Given the description of an element on the screen output the (x, y) to click on. 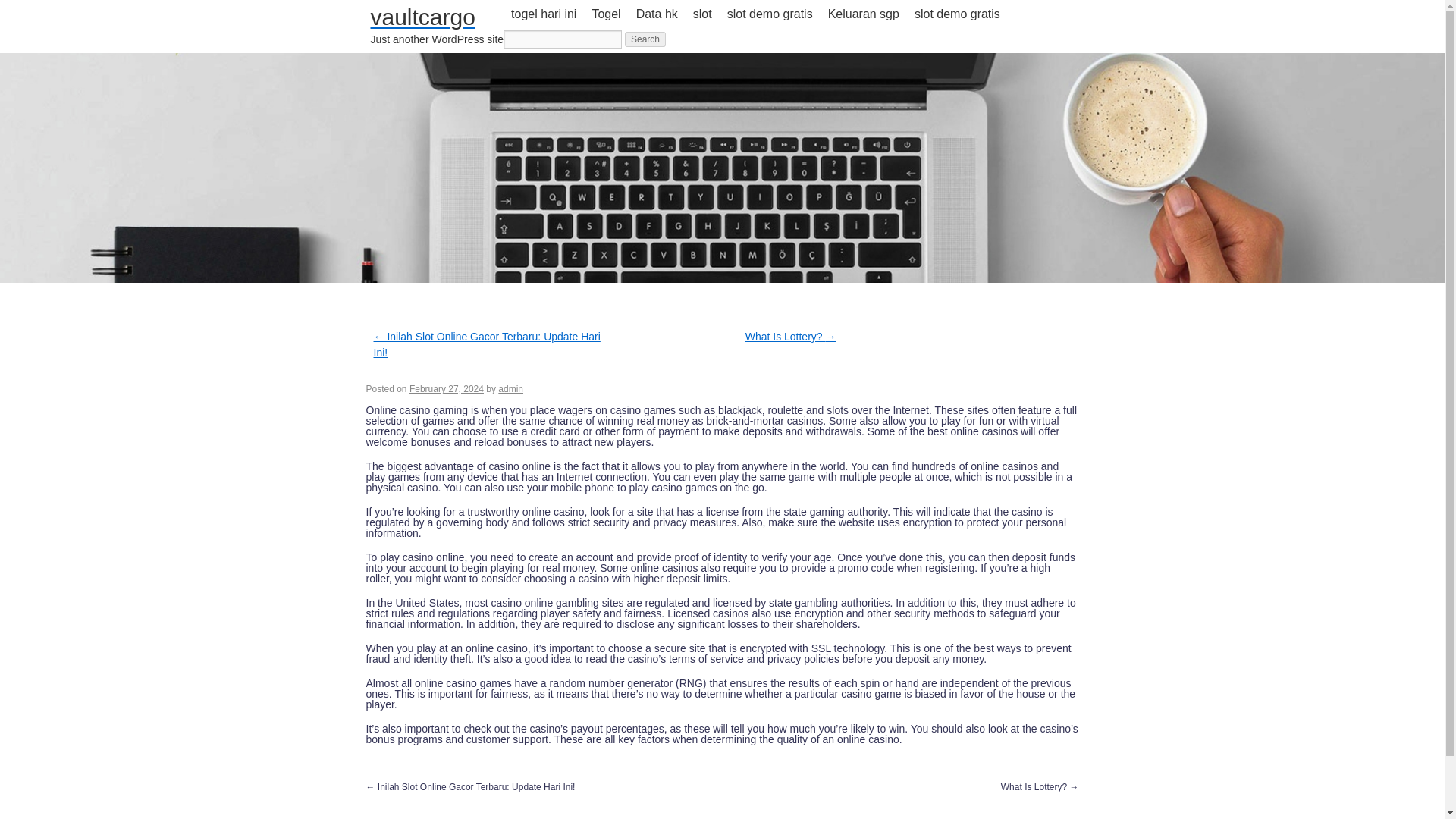
slot demo gratis (957, 14)
Search (644, 38)
Search (644, 38)
Keluaran sgp (864, 14)
slot demo gratis (770, 14)
vaultcargo (421, 16)
5:36 am (446, 388)
togel hari ini (543, 14)
View all posts by admin (509, 388)
admin (509, 388)
slot (702, 14)
Togel (605, 14)
February 27, 2024 (446, 388)
Data hk (656, 14)
